Given the description of an element on the screen output the (x, y) to click on. 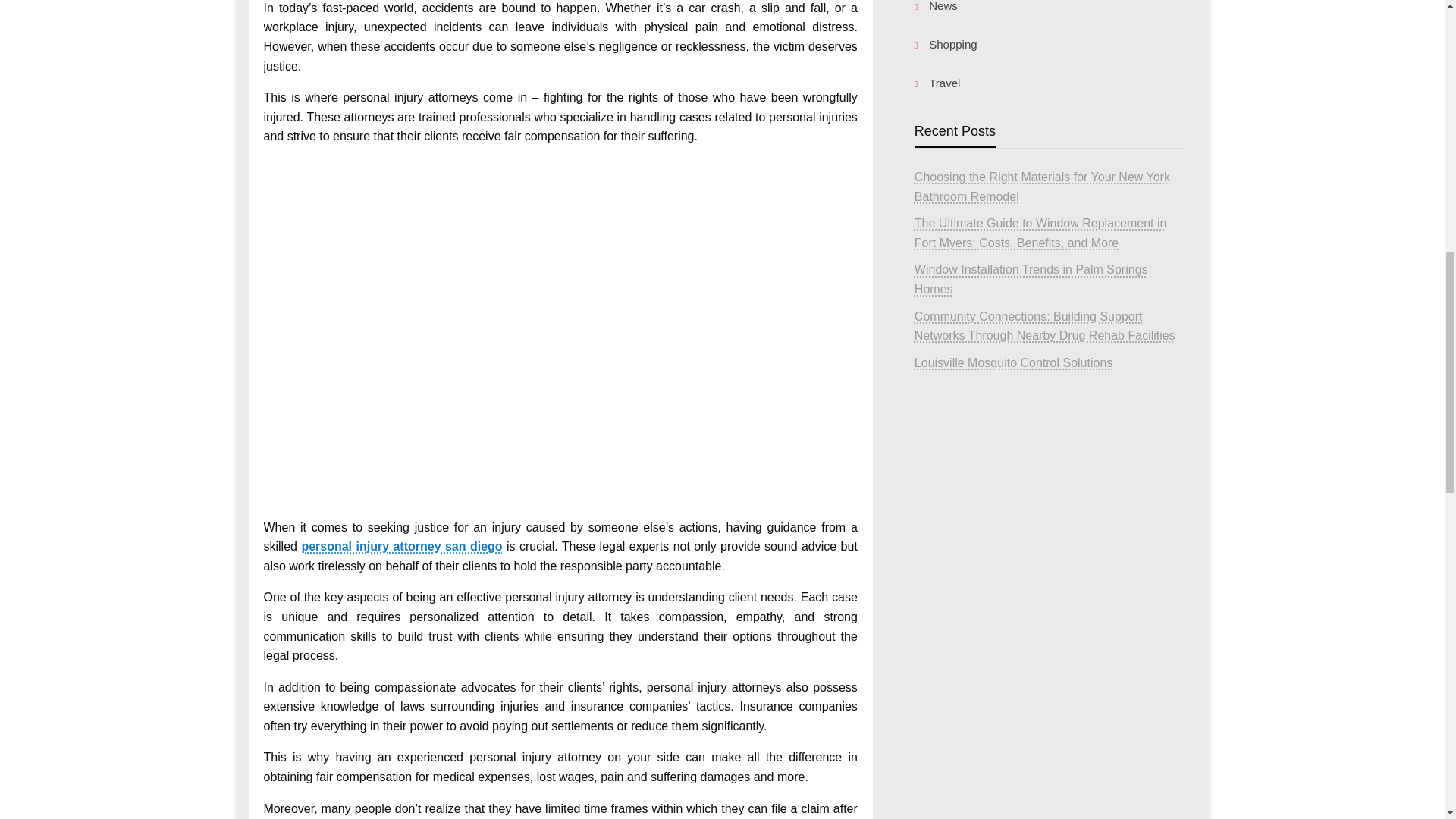
News (1049, 8)
Travel (1049, 83)
Window Installation Trends in Palm Springs Homes (1031, 278)
personal injury attorney san diego (401, 545)
Shopping (1049, 44)
